Given the description of an element on the screen output the (x, y) to click on. 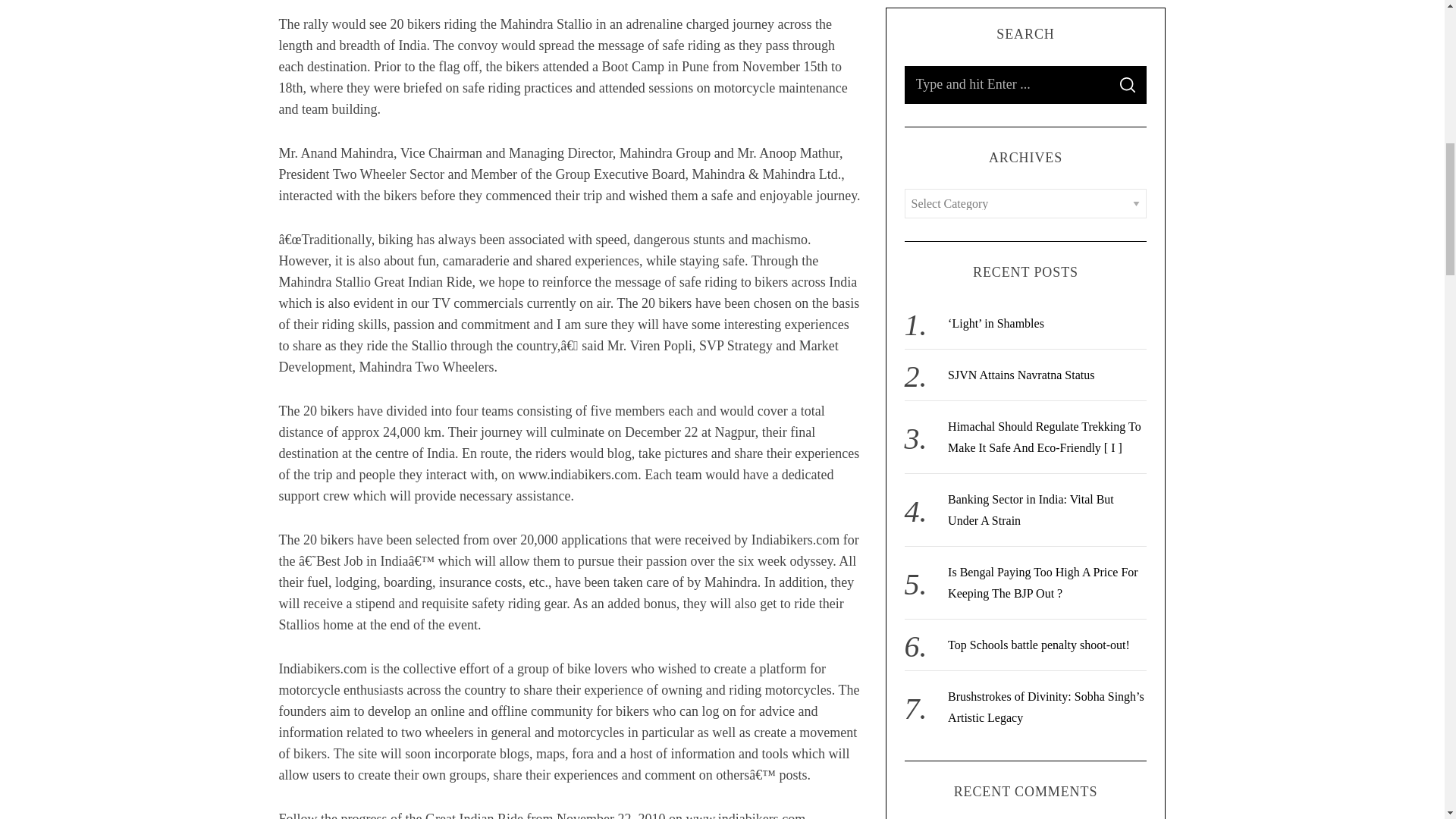
Is Bengal Paying Too High A Price For Keeping The BJP Out ? (1042, 125)
Banking Sector in India: Vital But Under A Strain (1030, 52)
Top Schools battle penalty shoot-out! (1038, 187)
